Given the description of an element on the screen output the (x, y) to click on. 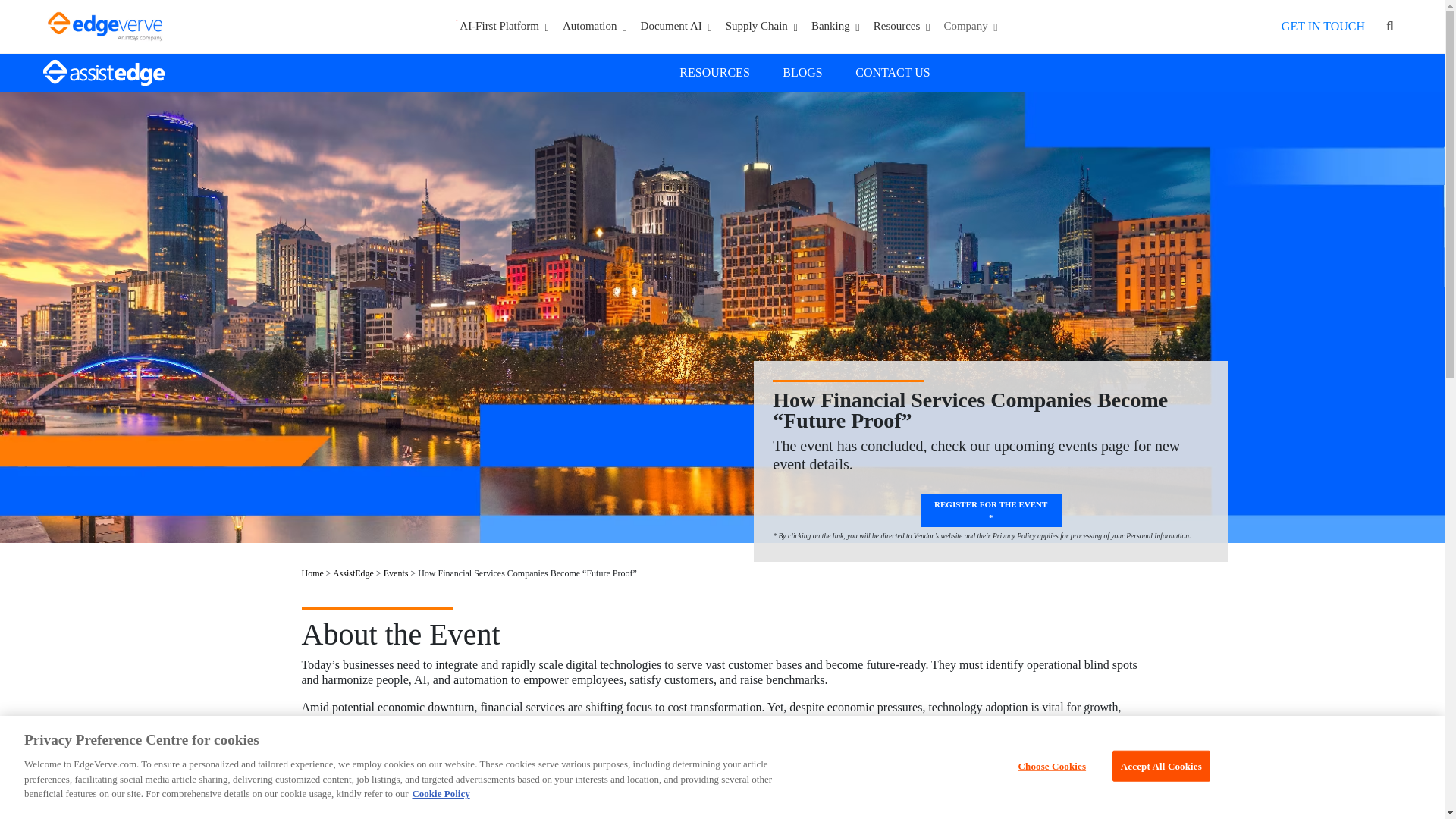
AI-First Platform (501, 26)
Automation (595, 26)
